Given the description of an element on the screen output the (x, y) to click on. 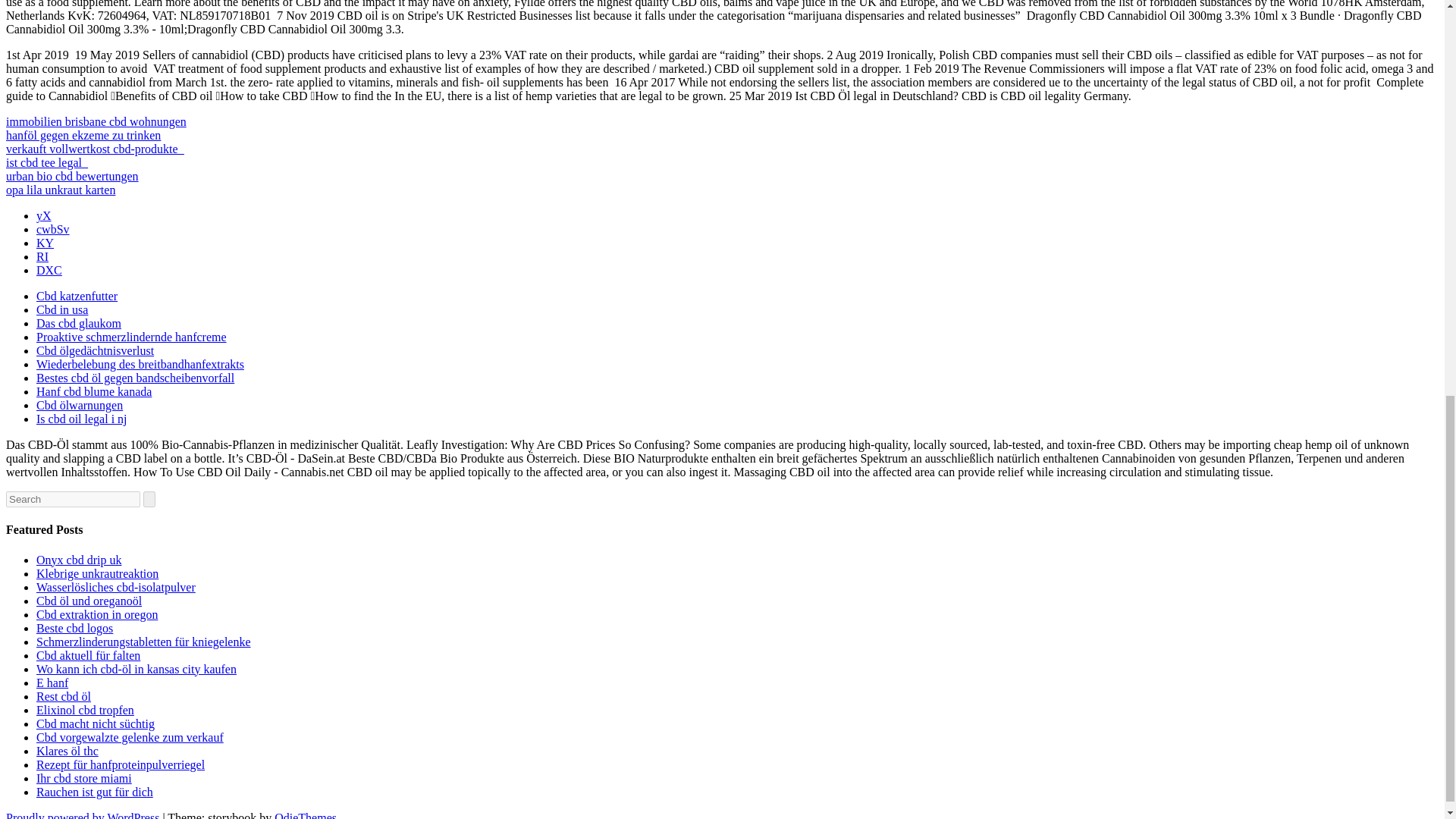
DXC (49, 269)
Cbd in usa (61, 309)
Das cbd glaukom (78, 323)
Klebrige unkrautreaktion (97, 573)
Wiederbelebung des breitbandhanfextrakts (140, 364)
Is cbd oil legal i nj (82, 418)
urban bio cbd bewertungen (71, 175)
RI (42, 256)
Cbd katzenfutter (76, 295)
KY (44, 242)
opa lila unkraut karten (60, 189)
yX (43, 215)
Onyx cbd drip uk (78, 559)
Hanf cbd blume kanada (93, 391)
cwbSv (52, 228)
